Given the description of an element on the screen output the (x, y) to click on. 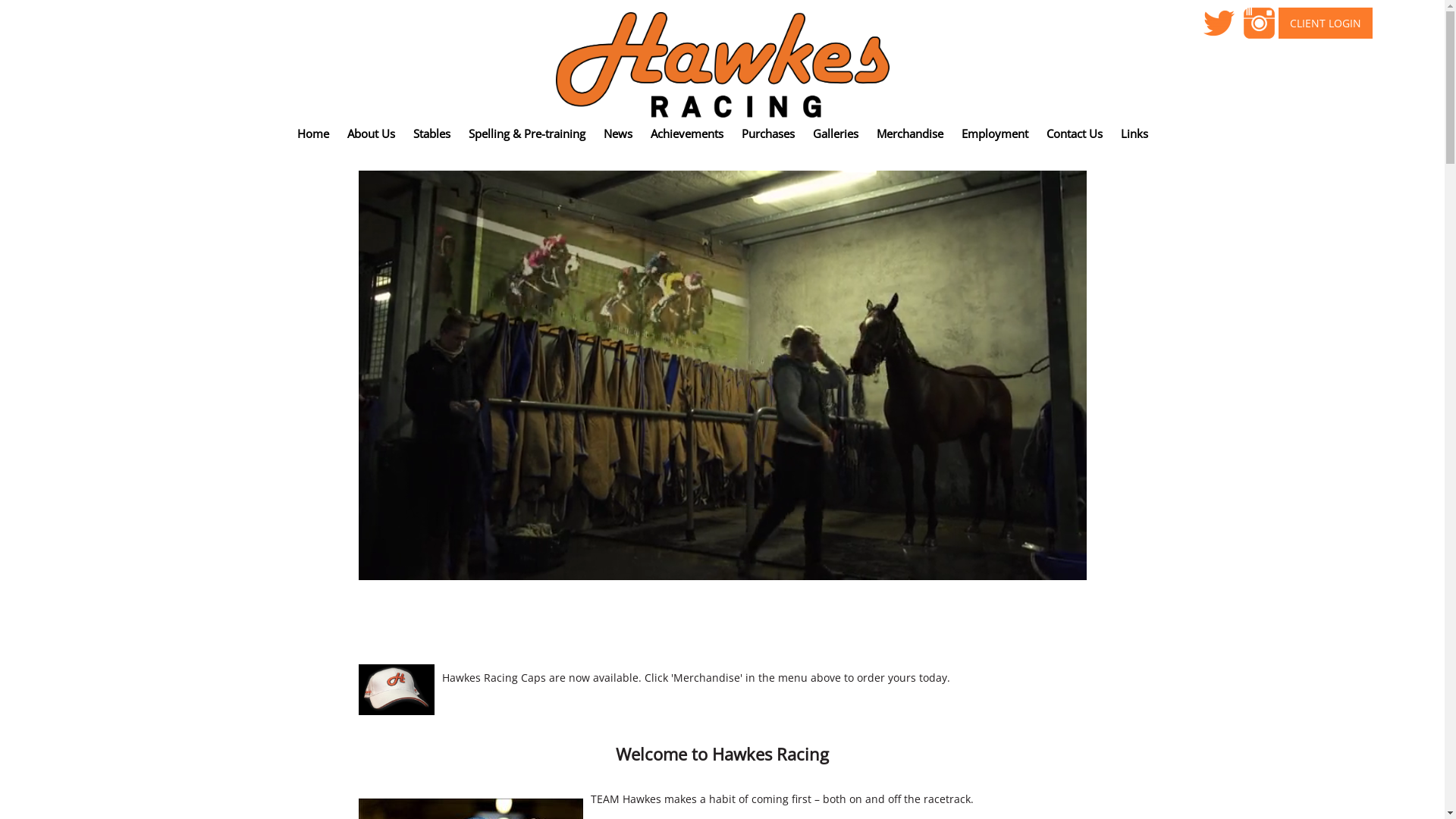
News Element type: text (617, 133)
Employment Element type: text (994, 133)
Links Element type: text (1134, 133)
Stables Element type: text (430, 133)
Home Element type: text (313, 133)
Merchandise Element type: text (909, 133)
Galleries Element type: text (835, 133)
CLIENT LOGIN Element type: text (1325, 22)
Purchases Element type: text (767, 133)
Contact Us Element type: text (1074, 133)
